Given the description of an element on the screen output the (x, y) to click on. 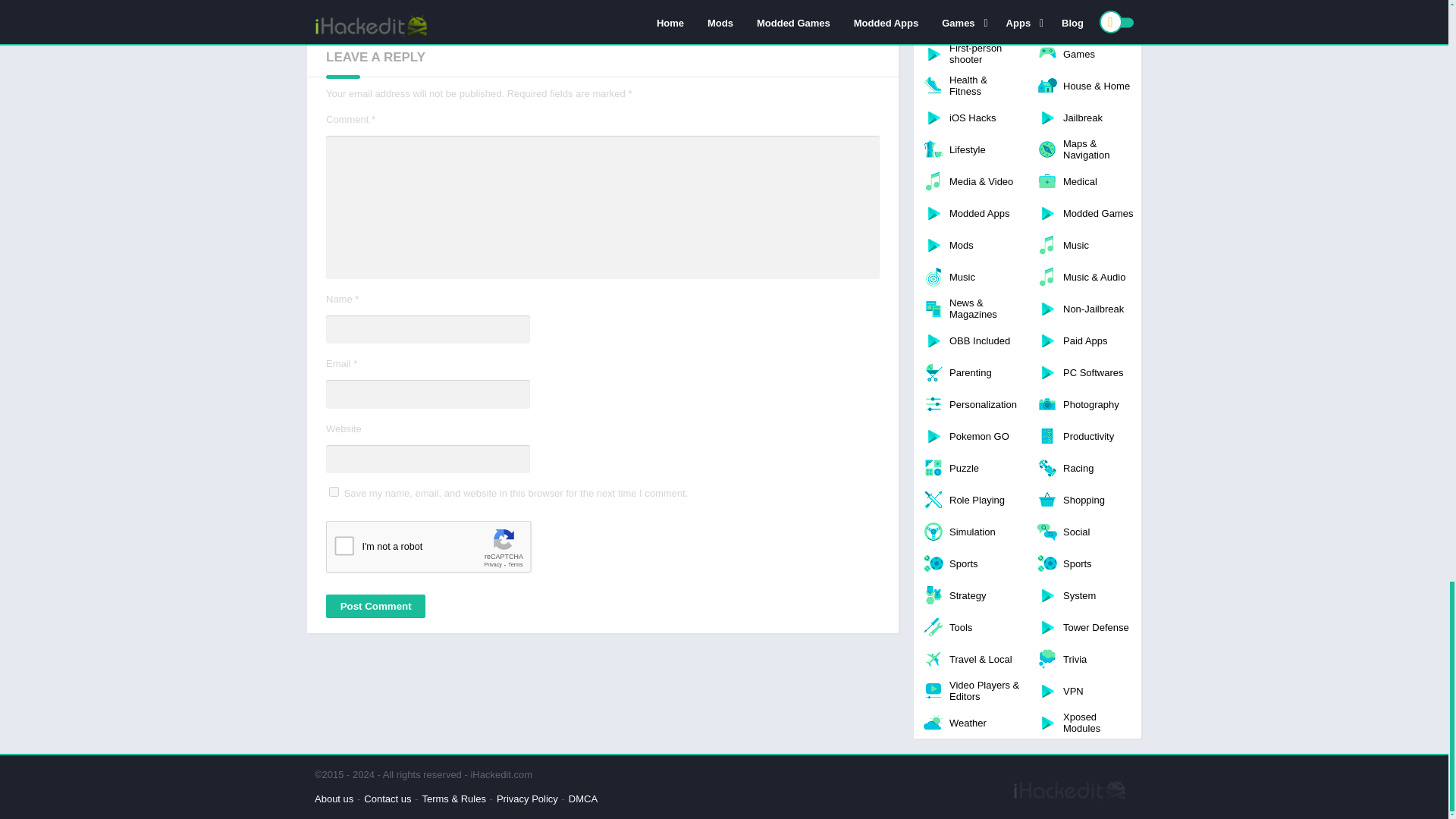
Post Comment (375, 606)
reCAPTCHA (441, 549)
yes (334, 491)
